Given the description of an element on the screen output the (x, y) to click on. 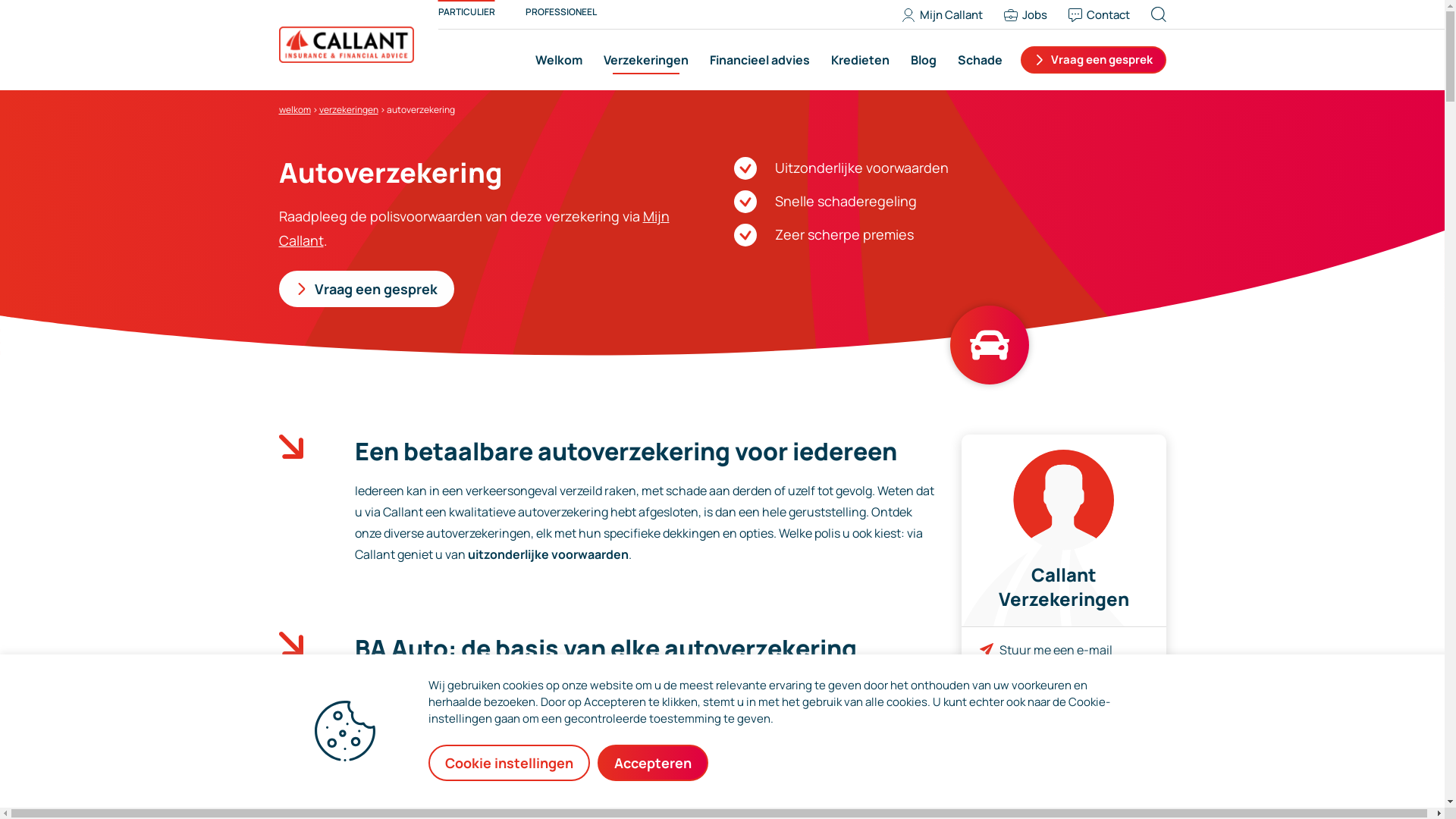
Cookie instellingen Element type: text (508, 762)
+32(0) 50 34 33 23 Element type: text (1050, 695)
Kredieten Element type: text (860, 59)
Blog Element type: text (922, 59)
Vraag een gesprek Element type: text (366, 288)
Stuur me een e-mail Element type: text (1055, 649)
Mijn Callant Element type: text (474, 228)
Accepteren Element type: text (652, 762)
Mijn Callant Element type: text (947, 14)
Financieel advies Element type: text (759, 59)
Welkom Element type: text (558, 59)
Zoeken Element type: text (1173, 13)
verzekeringen Element type: text (347, 109)
Schade Element type: text (975, 59)
Vraag een gesprek Element type: text (1093, 59)
Home Element type: hover (346, 43)
Contact Element type: text (1104, 14)
welkom Element type: text (294, 109)
Verzekeringen Element type: text (645, 59)
Jobs Element type: text (1031, 14)
